Given the description of an element on the screen output the (x, y) to click on. 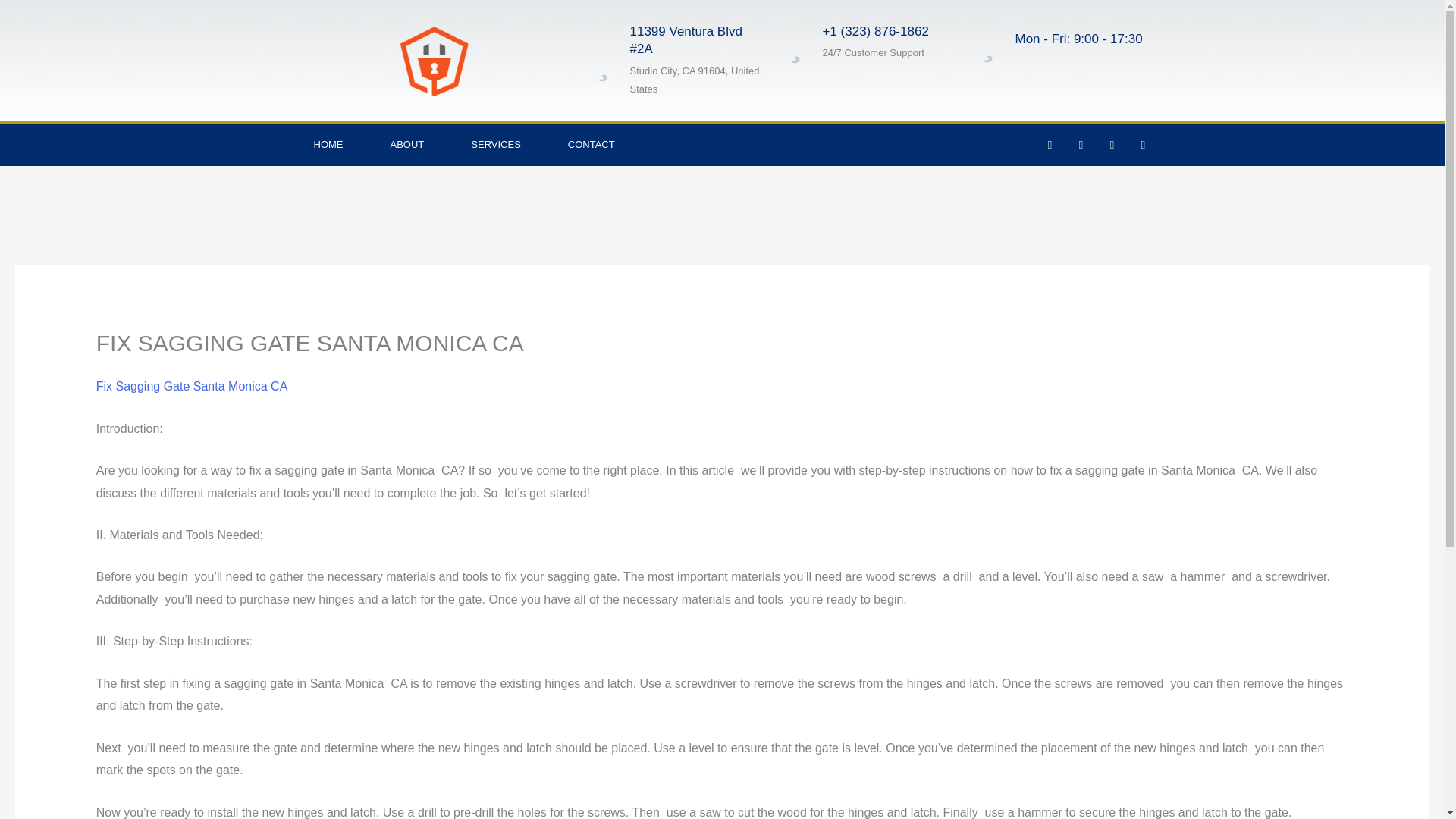
HOME (327, 144)
Fix Sagging Gate Santa Monica CA (192, 386)
Facebook (1049, 144)
Twitter (1080, 144)
ABOUT (407, 144)
Github (1111, 144)
CONTACT (591, 144)
Bitbucket (1142, 144)
SERVICES (495, 144)
